Given the description of an element on the screen output the (x, y) to click on. 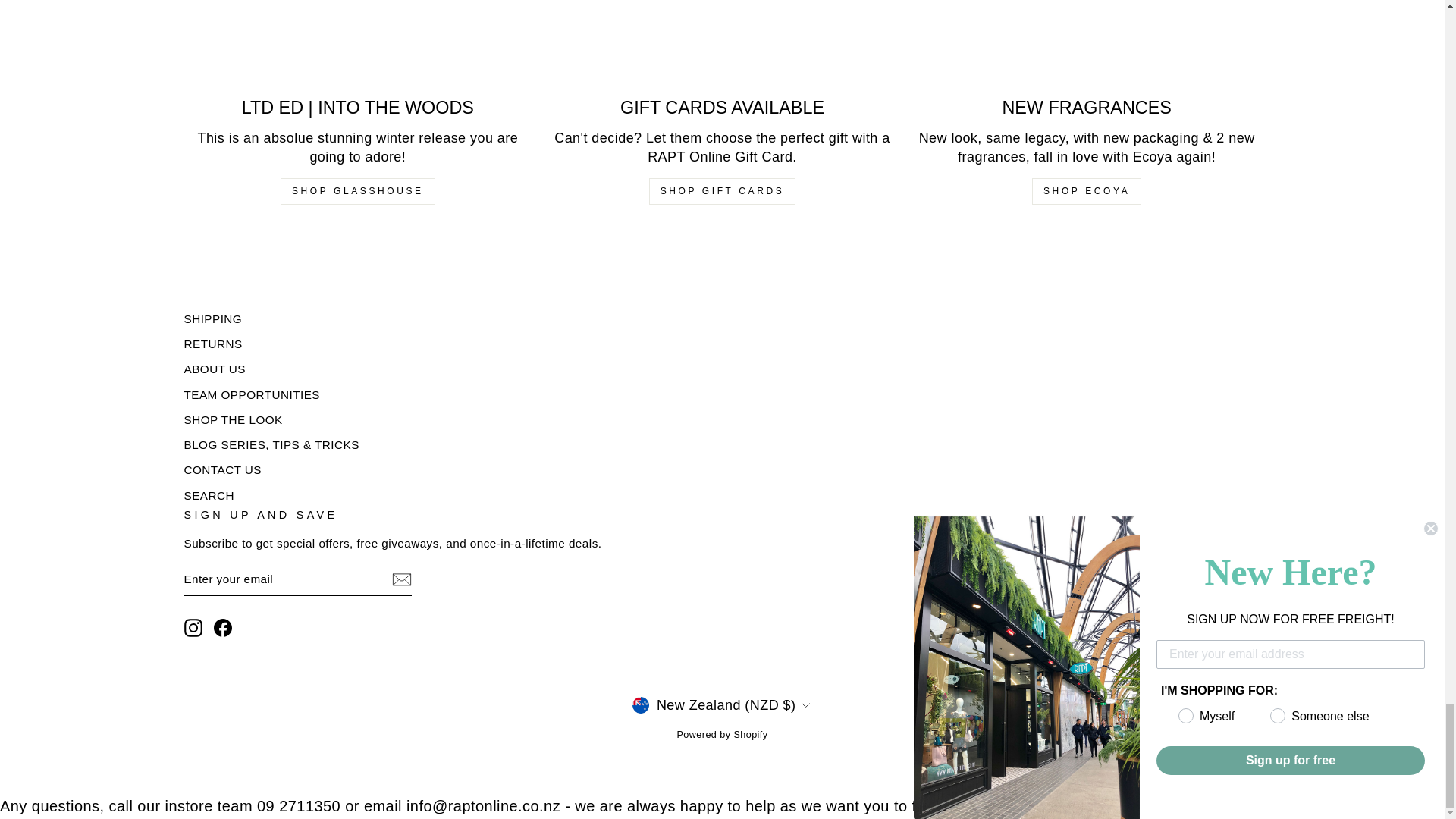
RAPT ONLINE on Instagram (192, 628)
RAPT ONLINE on Facebook (222, 628)
